Given the description of an element on the screen output the (x, y) to click on. 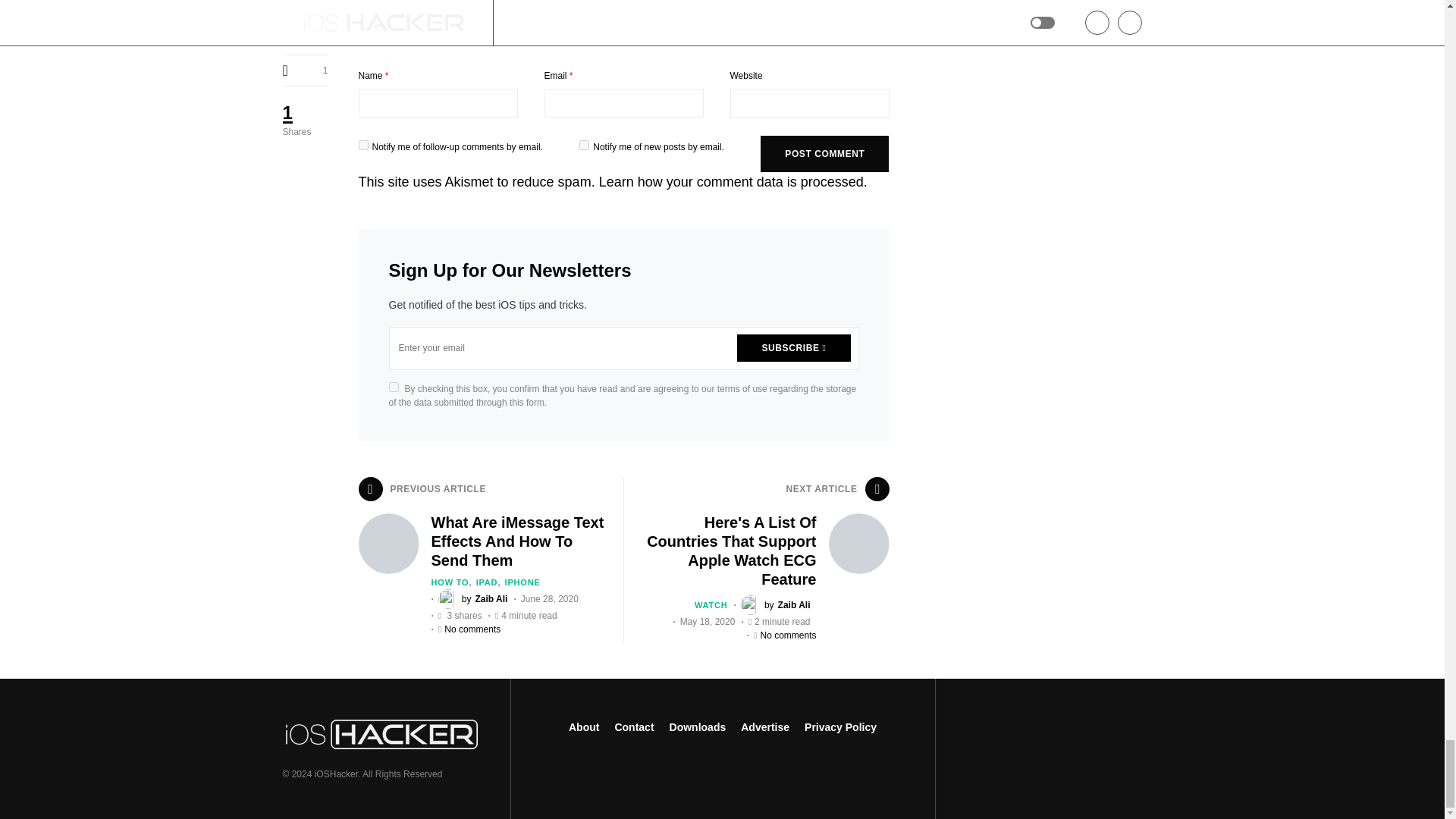
subscribe (584, 144)
on (392, 386)
View all posts by Zaib Ali (775, 605)
subscribe (363, 144)
Post Comment (824, 153)
View all posts by Zaib Ali (473, 598)
